Given the description of an element on the screen output the (x, y) to click on. 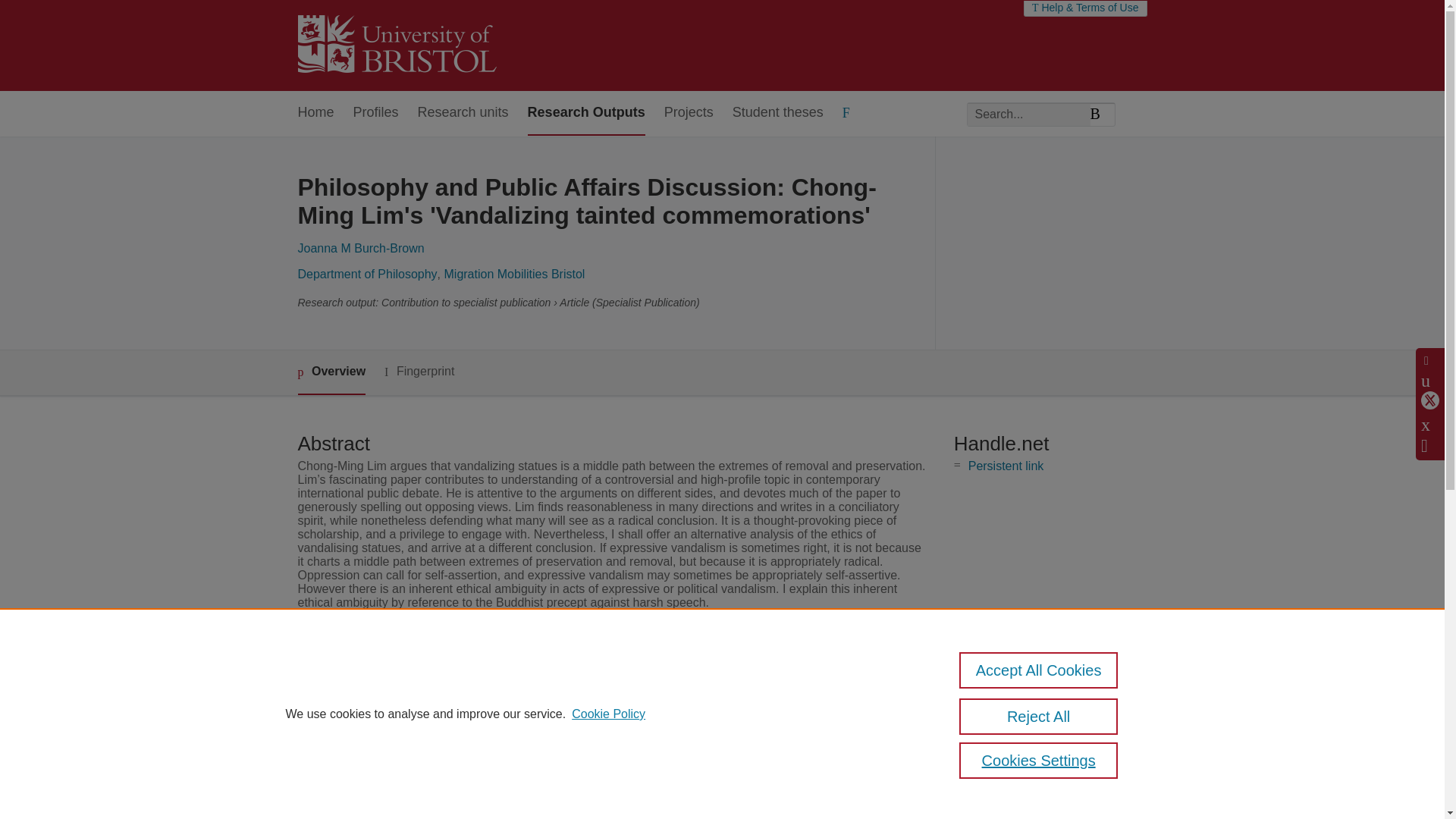
Student theses (778, 112)
Profiles (375, 112)
Research units (462, 112)
Fingerprint (419, 371)
Department of Philosophy (366, 273)
Overview (331, 372)
University of Bristol Home (396, 45)
Joanna M Burch-Brown (360, 247)
Research Outputs (586, 112)
Persistent link (1005, 465)
Projects (688, 112)
Migration Mobilities Bristol (514, 273)
